Given the description of an element on the screen output the (x, y) to click on. 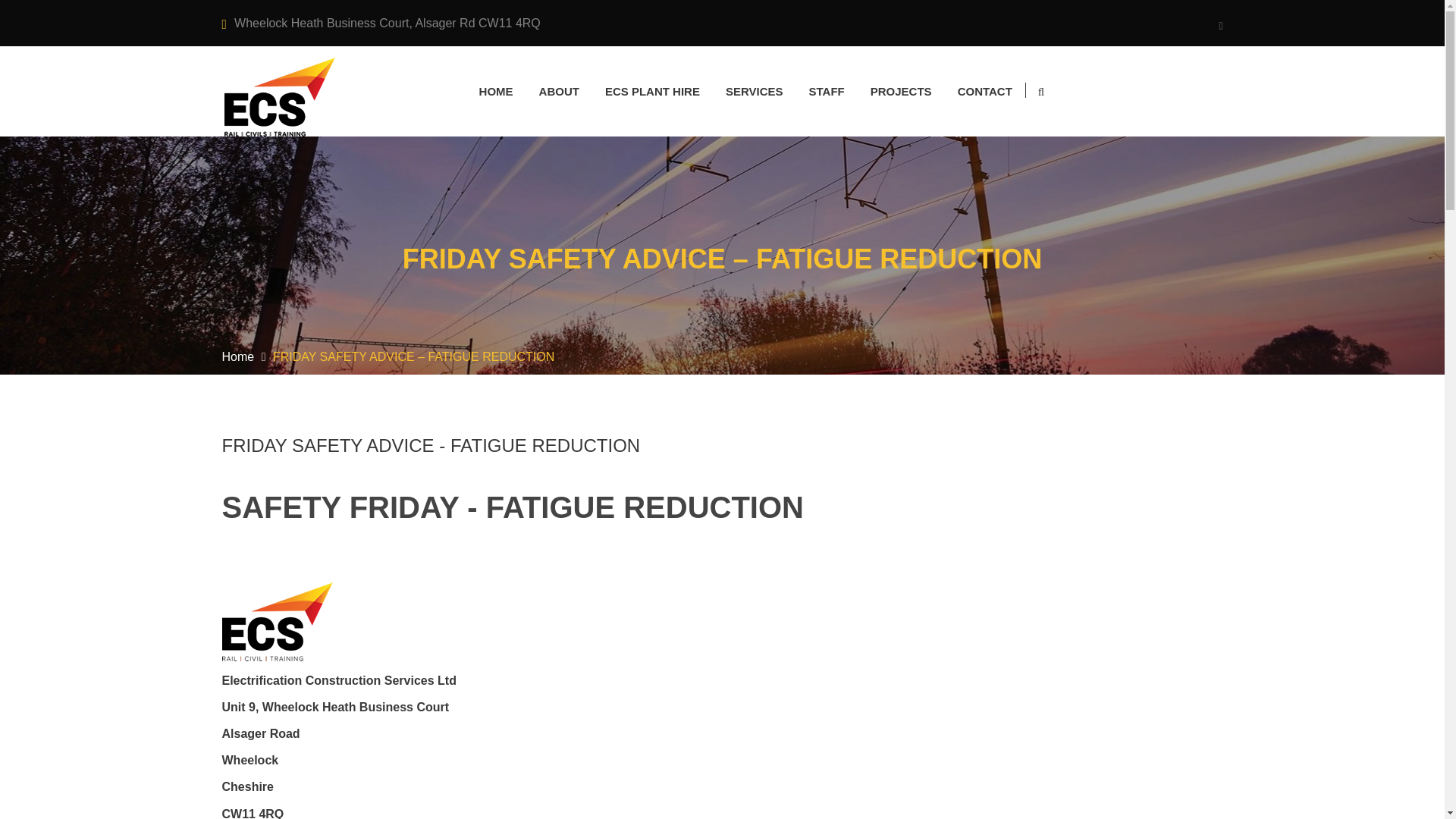
CONTACT (984, 90)
STAFF (826, 90)
Home (237, 356)
HOME (496, 90)
Search (1038, 154)
ABOUT (558, 90)
SERVICES (754, 90)
PROJECTS (900, 90)
ECS PLANT HIRE (652, 90)
